Given the description of an element on the screen output the (x, y) to click on. 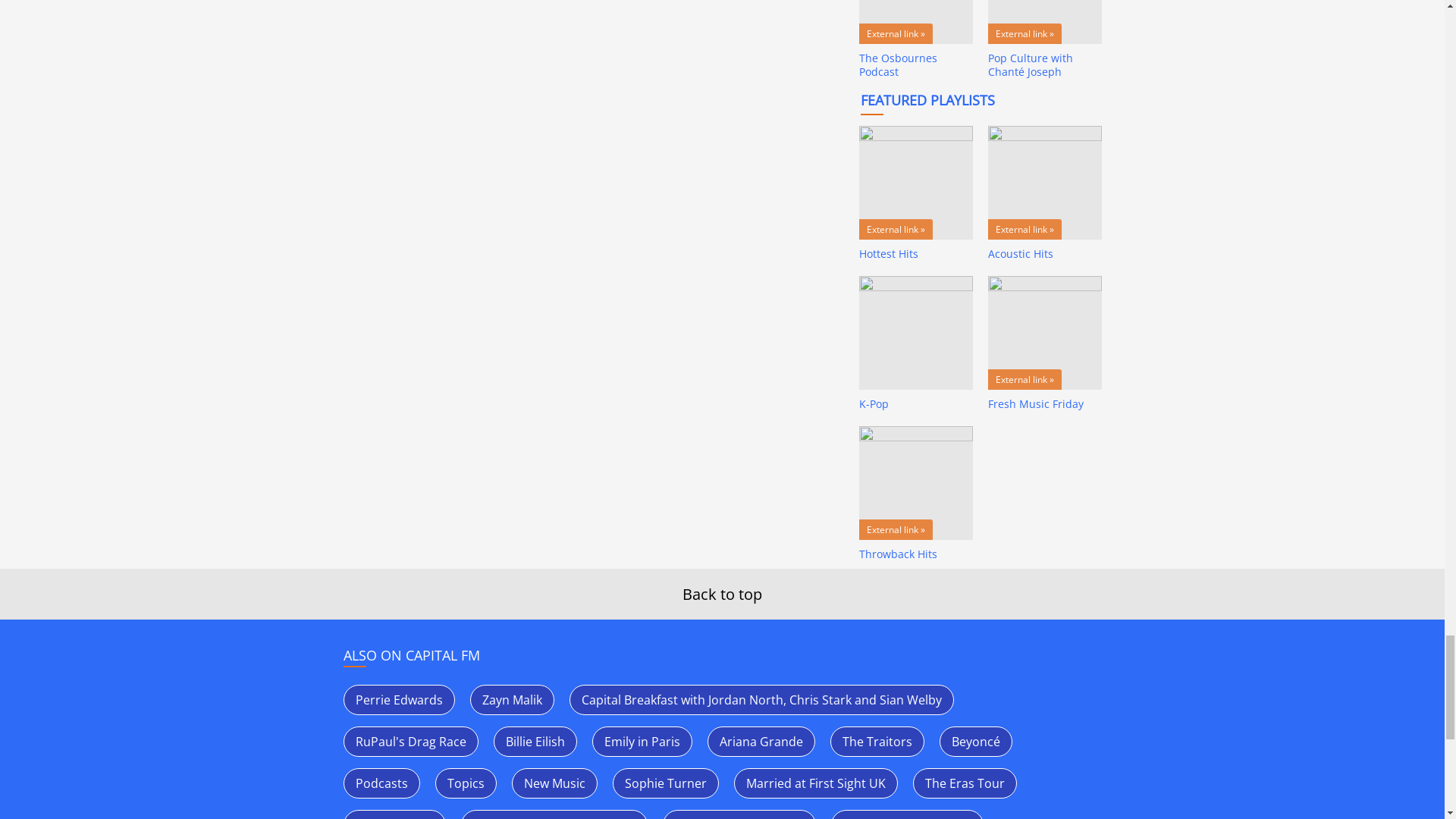
Back to top (721, 593)
